Given the description of an element on the screen output the (x, y) to click on. 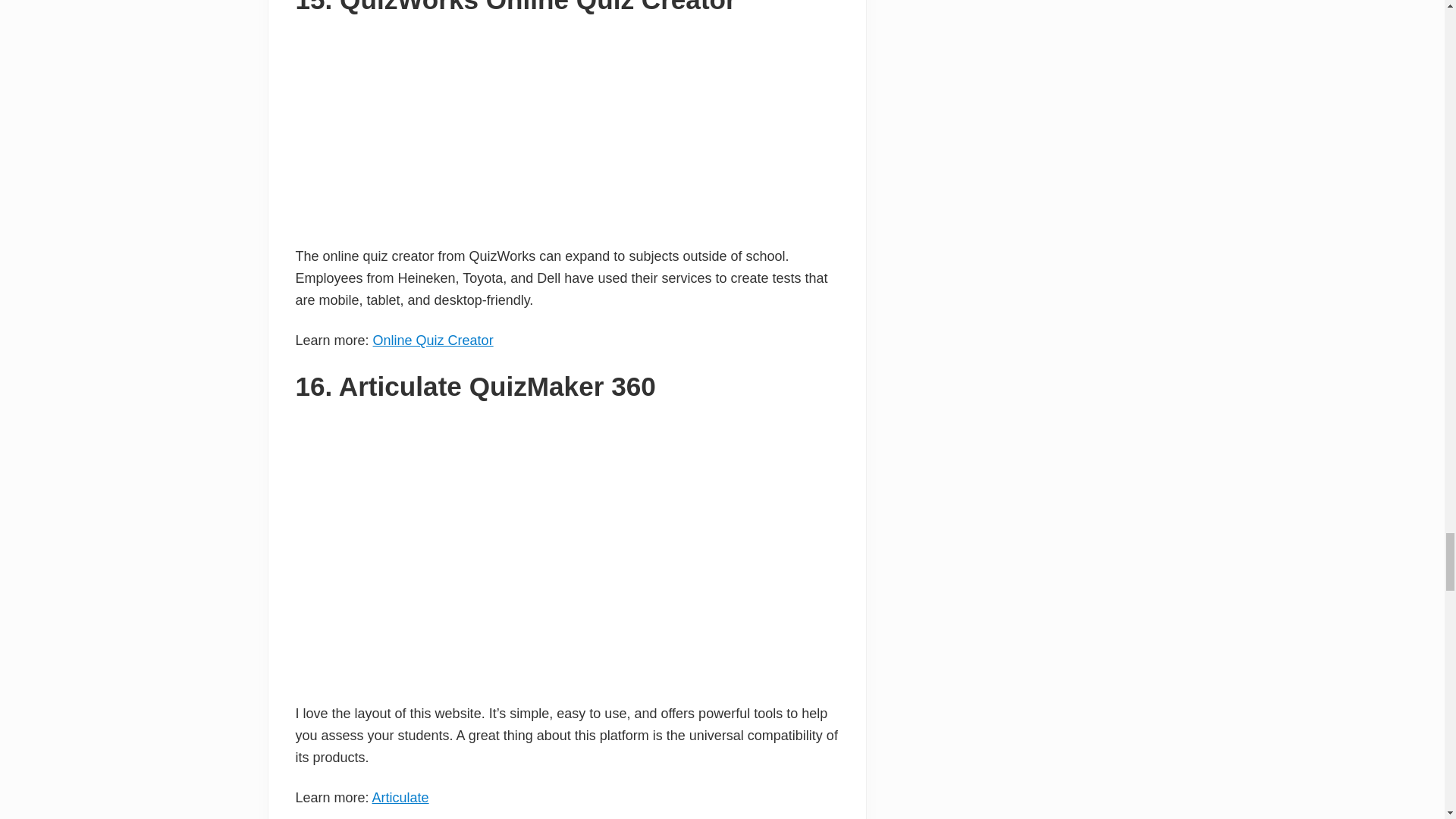
Online Quiz Creator (432, 340)
Articulate (400, 797)
